Given the description of an element on the screen output the (x, y) to click on. 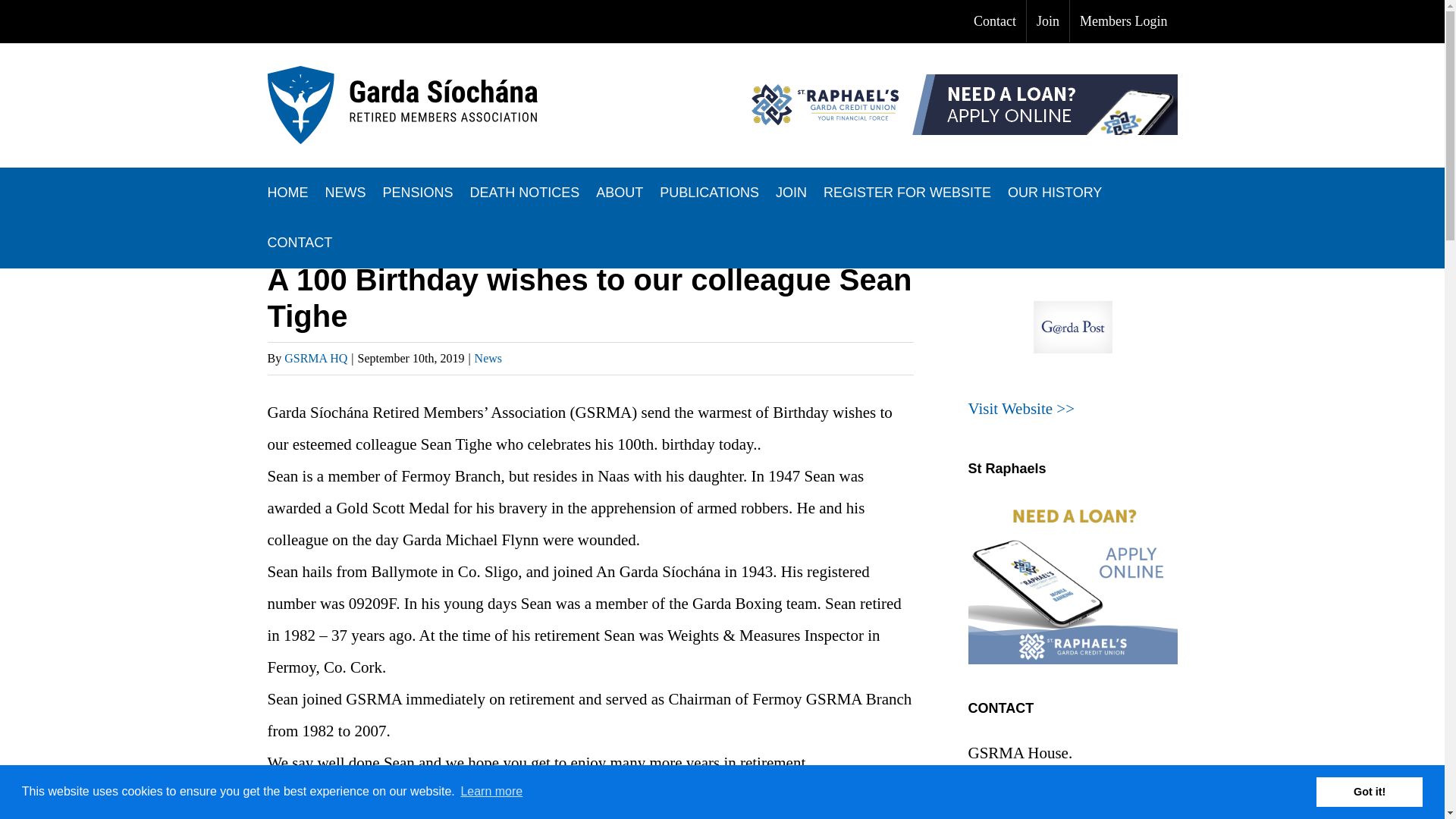
Join (1047, 21)
Click here (1021, 408)
PENSIONS (416, 192)
CONTACT (298, 242)
Got it! (1369, 791)
ABOUT (619, 192)
Click here (1072, 277)
Members Login (1123, 21)
OUR HISTORY (1054, 192)
REGISTER FOR WEBSITE (907, 192)
